Given the description of an element on the screen output the (x, y) to click on. 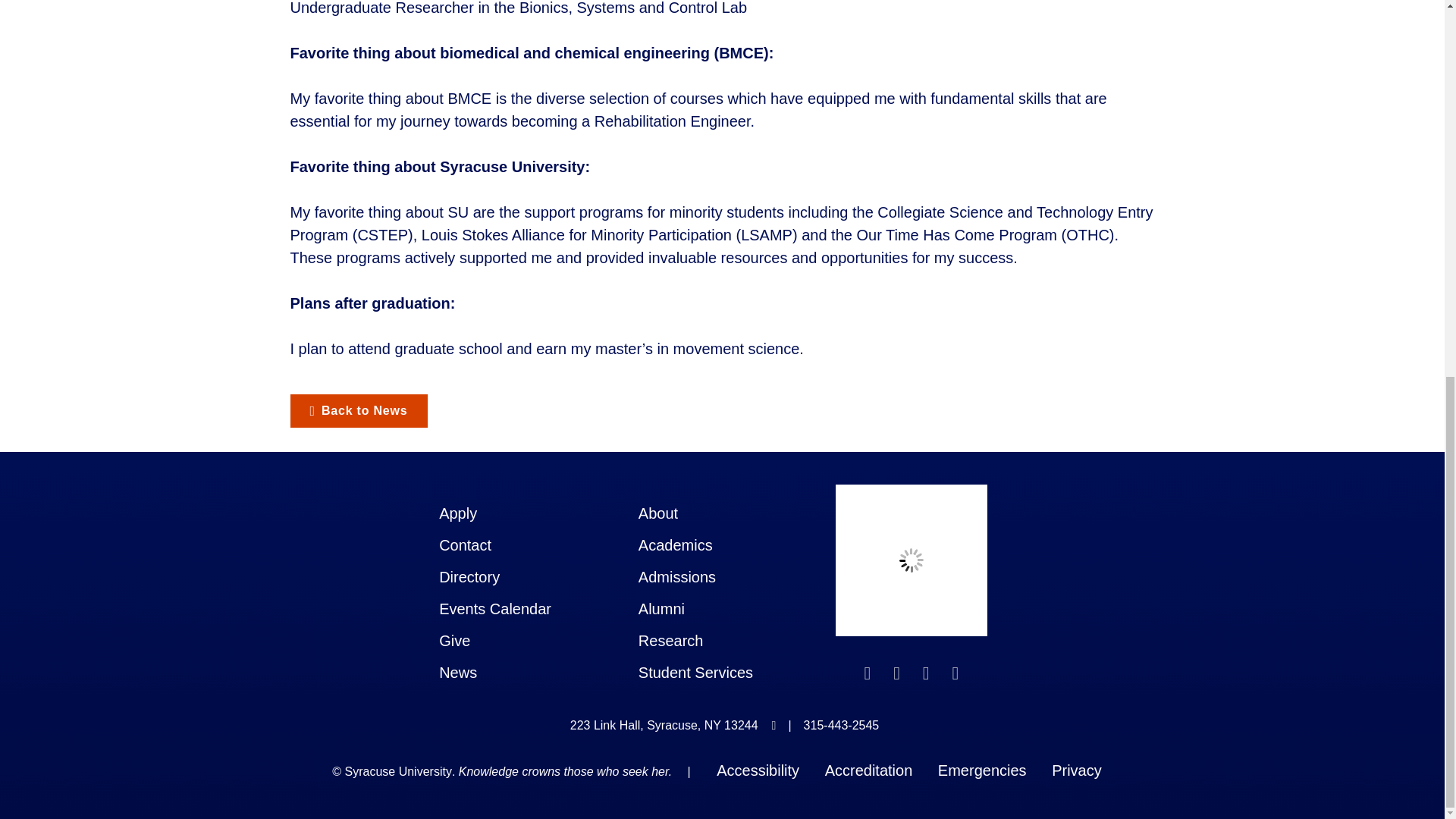
Link to address on Google Maps (664, 725)
